Given the description of an element on the screen output the (x, y) to click on. 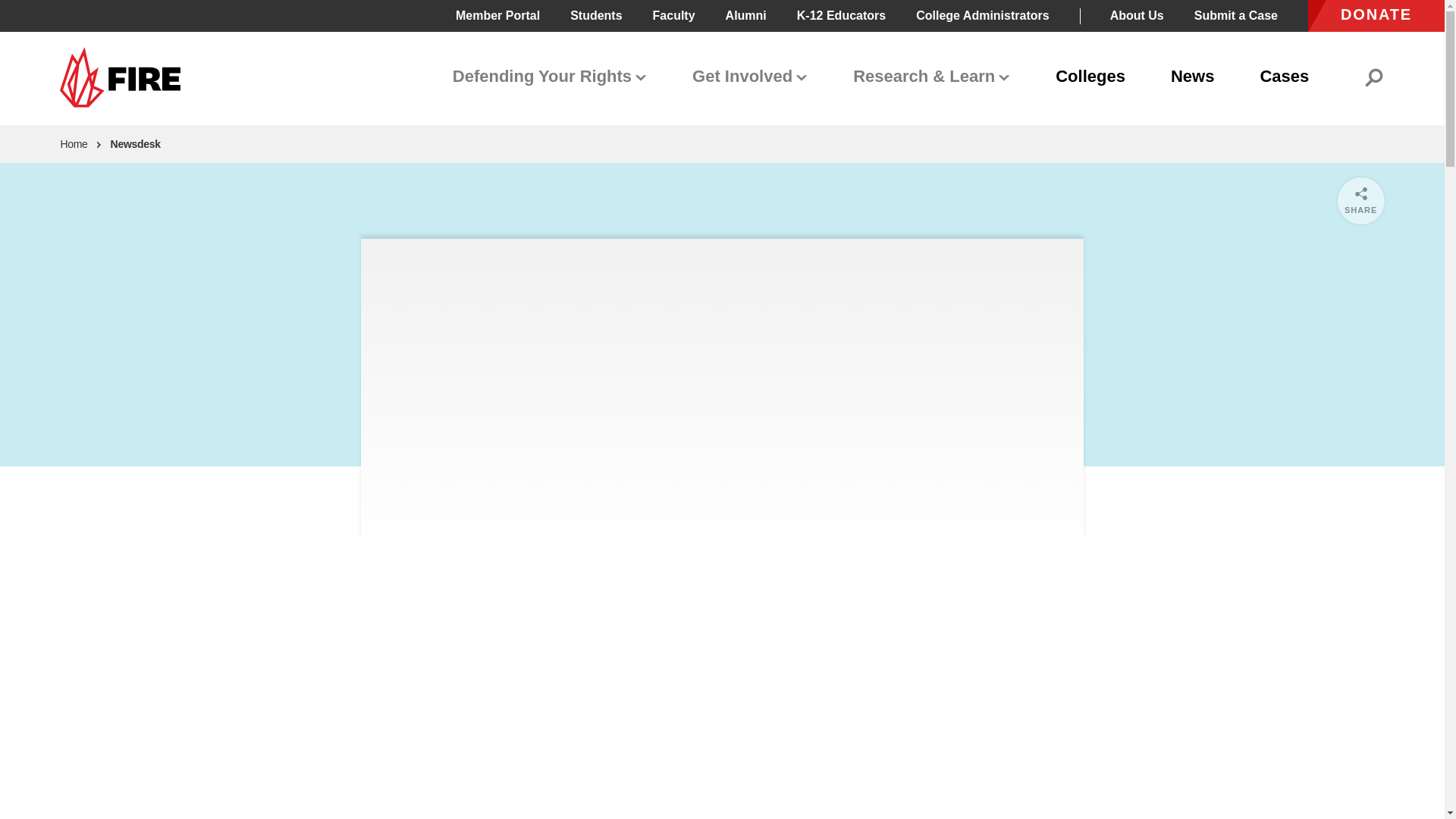
Member Portal (497, 15)
Faculty (673, 15)
Defending Your Rights (550, 77)
K-12 Educators (840, 15)
Submit a Case (1235, 15)
Alumni (746, 15)
Students (595, 15)
About Us (1136, 15)
Get Involved (749, 77)
